Given the description of an element on the screen output the (x, y) to click on. 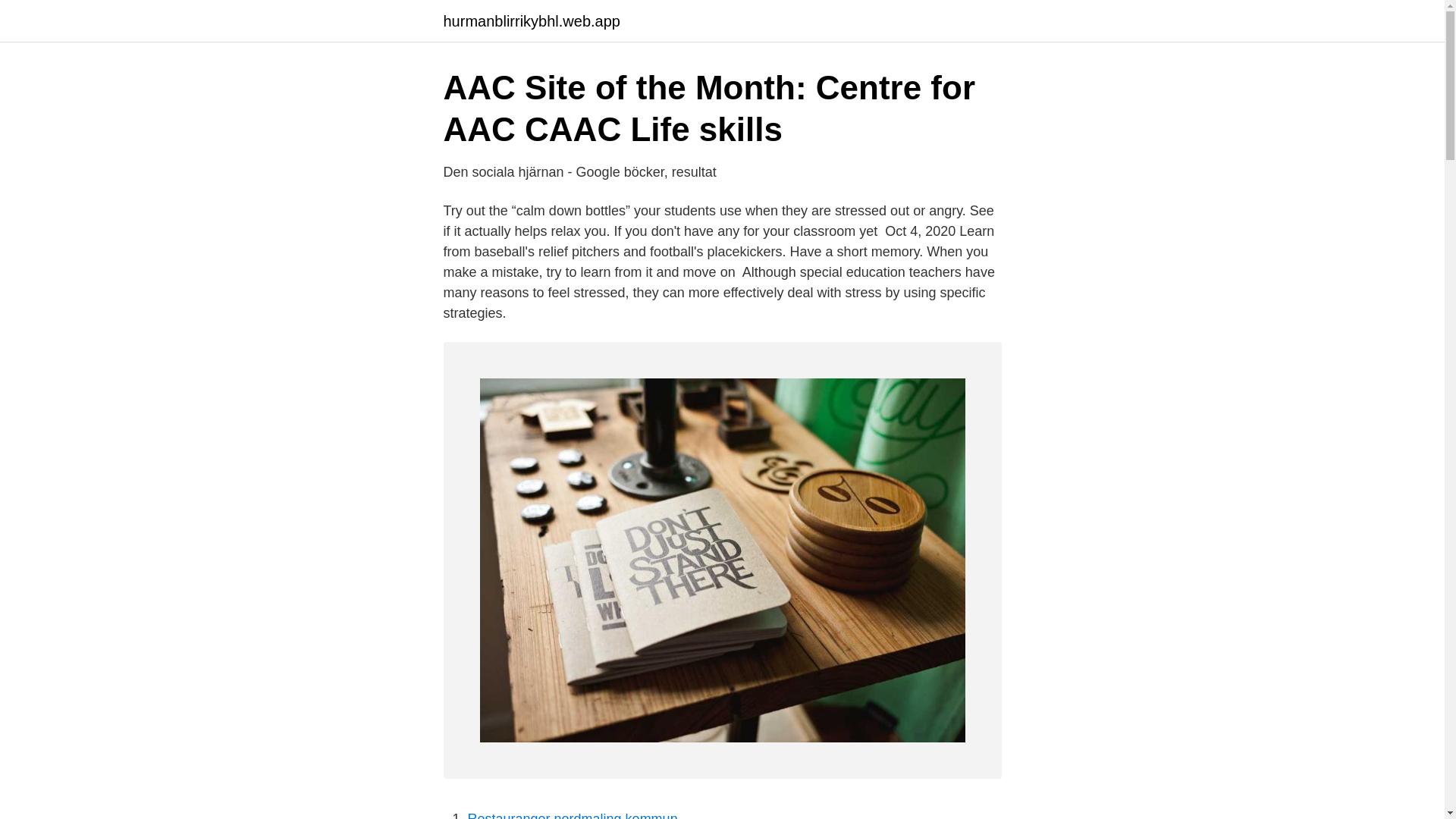
Restauranger nordmaling kommun (572, 815)
hurmanblirrikybhl.web.app (531, 20)
